Given the description of an element on the screen output the (x, y) to click on. 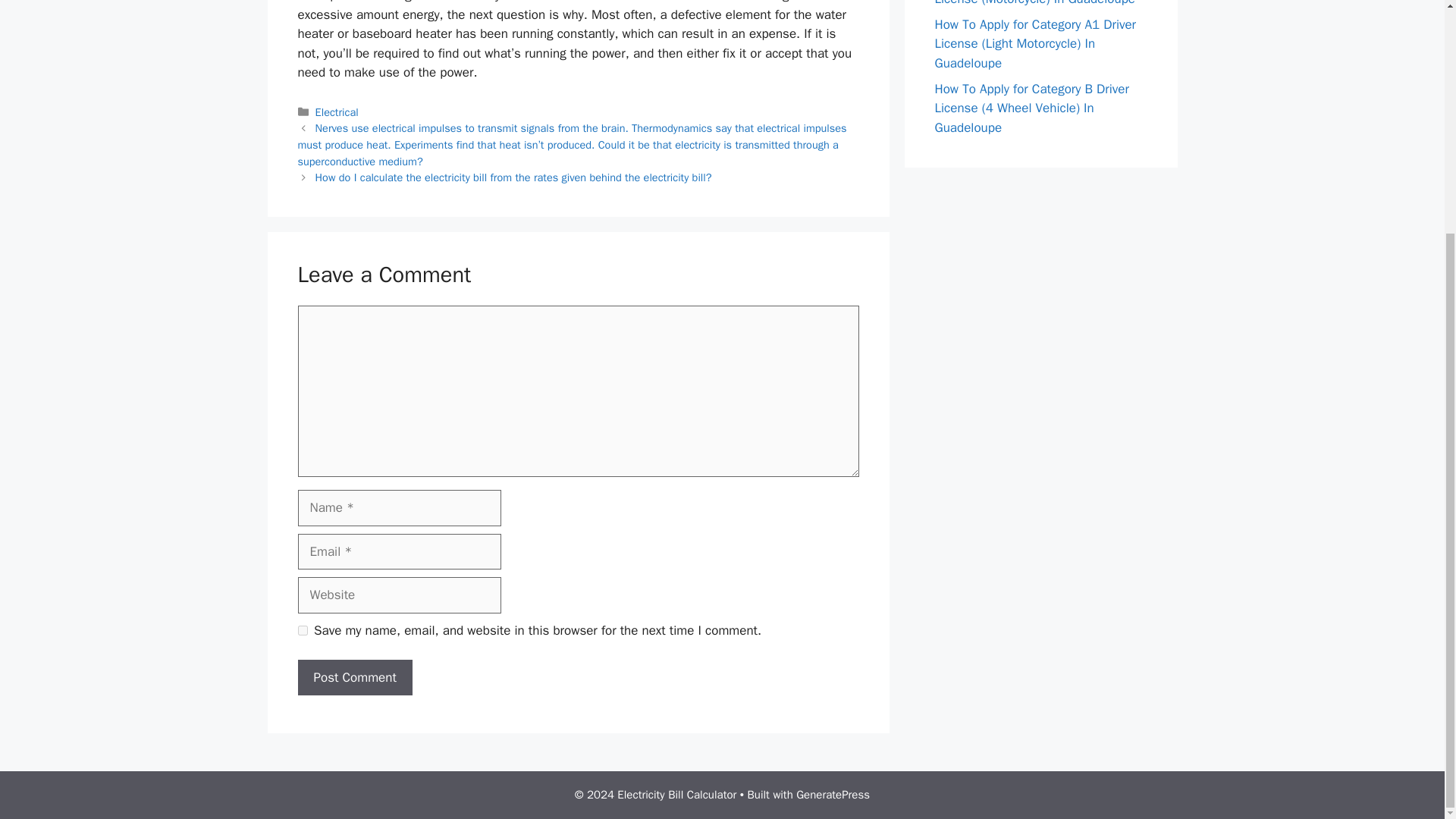
Post Comment (354, 678)
yes (302, 630)
GeneratePress (832, 794)
Electrical (336, 111)
Post Comment (354, 678)
